Given the description of an element on the screen output the (x, y) to click on. 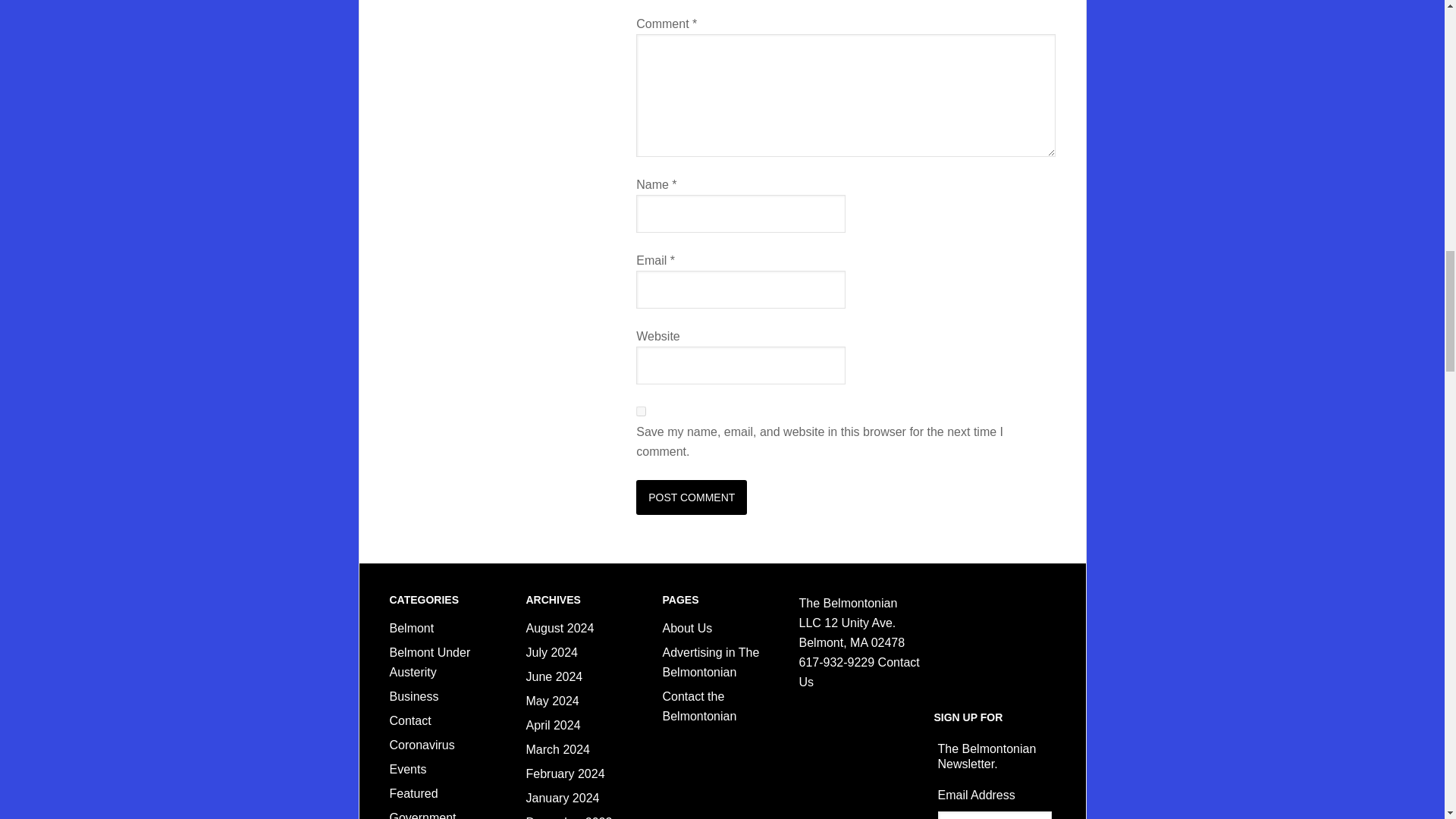
Belmont (411, 627)
Business (414, 696)
yes (641, 411)
Post Comment (691, 497)
Contact (410, 720)
Post Comment (691, 497)
Belmont Under Austerity (430, 662)
